Given the description of an element on the screen output the (x, y) to click on. 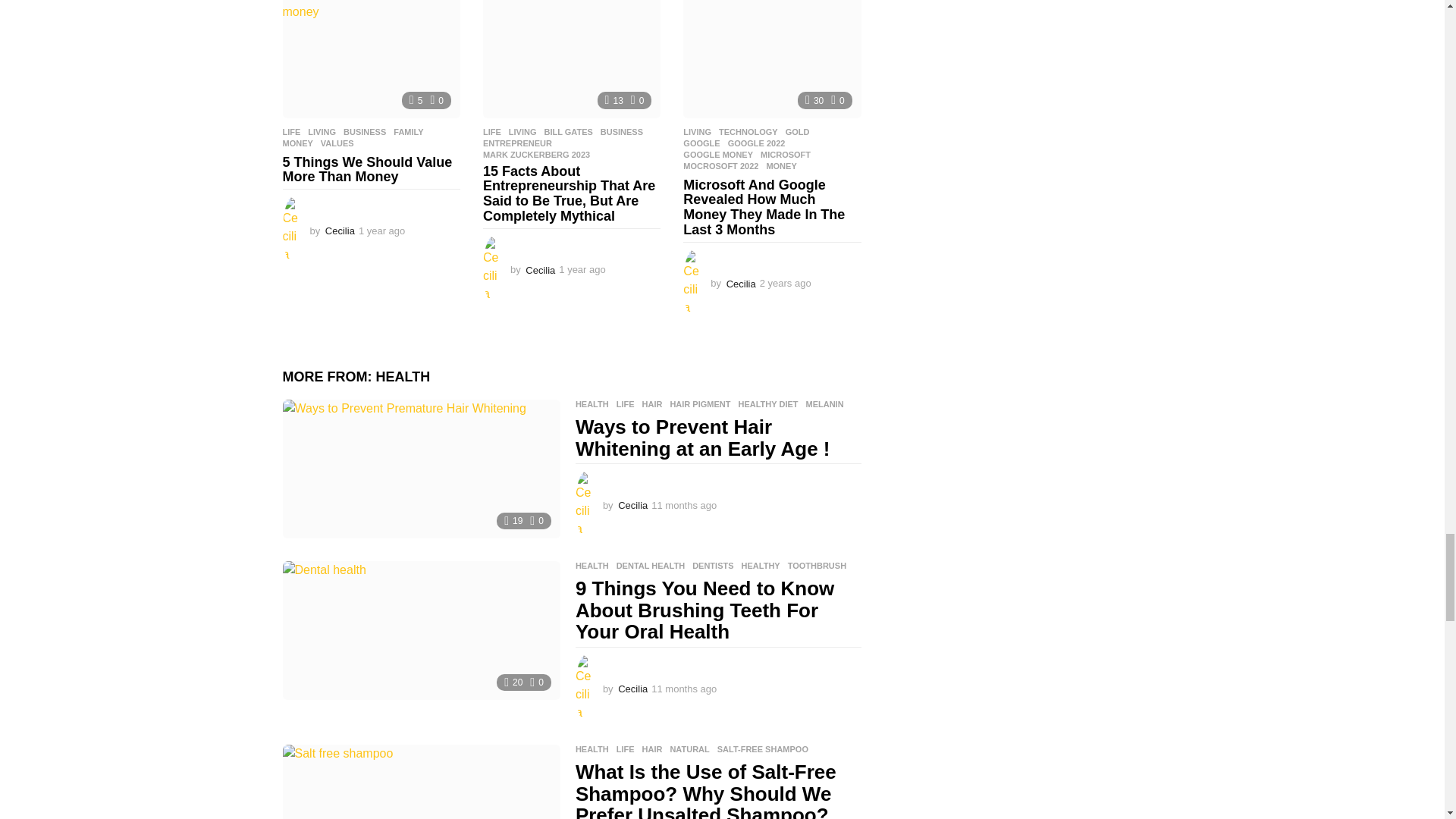
Ways to Prevent Hair Whitening at an Early Age ! (420, 468)
5 Things We Should Value More Than Money (371, 58)
